Given the description of an element on the screen output the (x, y) to click on. 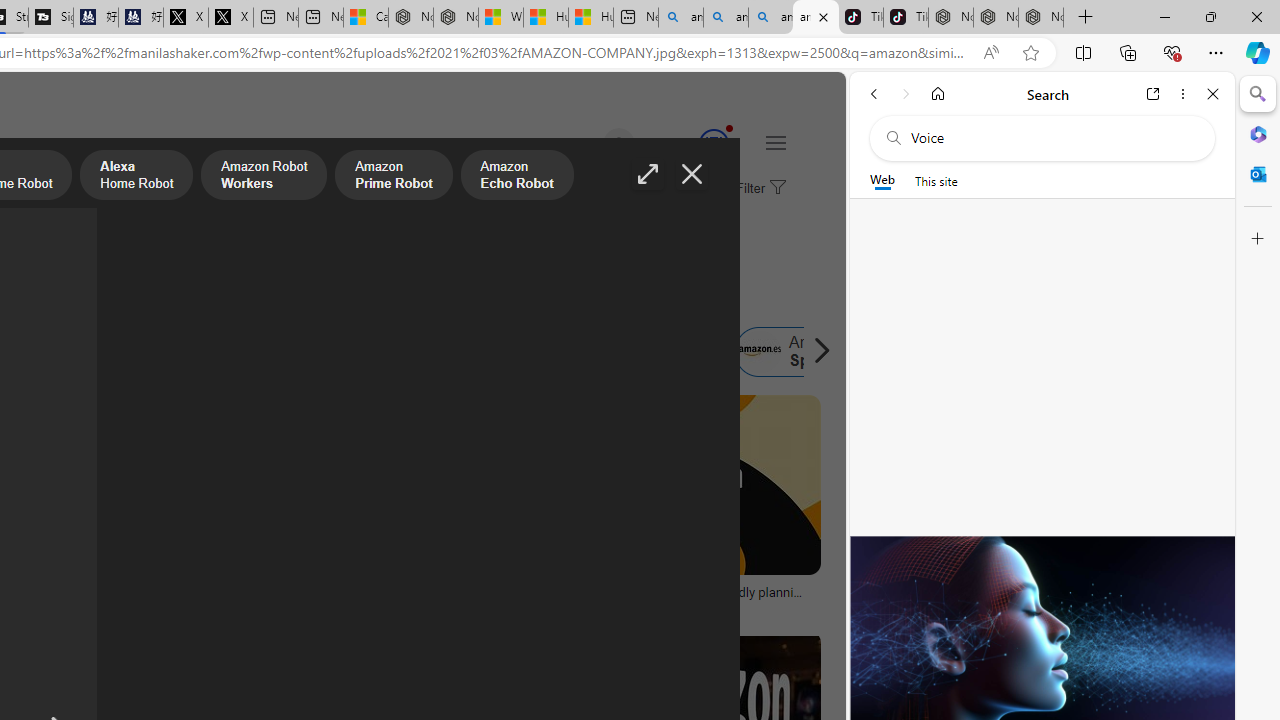
amazon - Search Images (815, 17)
downdetector.ae (249, 605)
Outlook (1258, 174)
Browser essentials (1171, 52)
Eugene (590, 143)
Read aloud this page (Ctrl+Shift+U) (991, 53)
Amazon down? Current status and problems | Downdetector (368, 598)
Amazon Spain (759, 351)
Amazon Forest (475, 351)
Nordace - Summer Adventures 2024 (455, 17)
Wildlife - MSN (500, 17)
Amazon Echo Robot (516, 177)
New Tab (1085, 17)
